Given the description of an element on the screen output the (x, y) to click on. 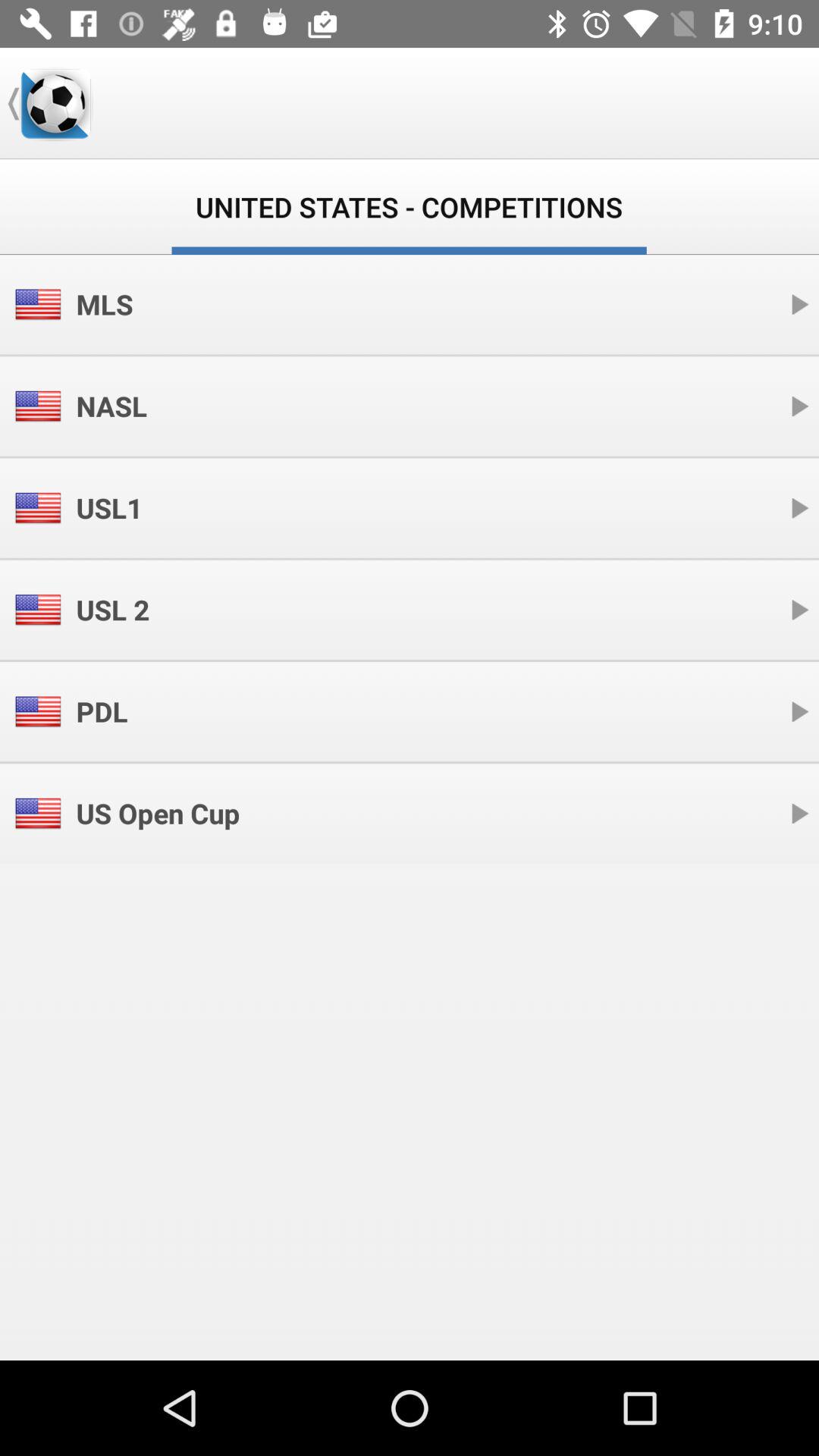
tap icon above the us open cup icon (101, 711)
